Given the description of an element on the screen output the (x, y) to click on. 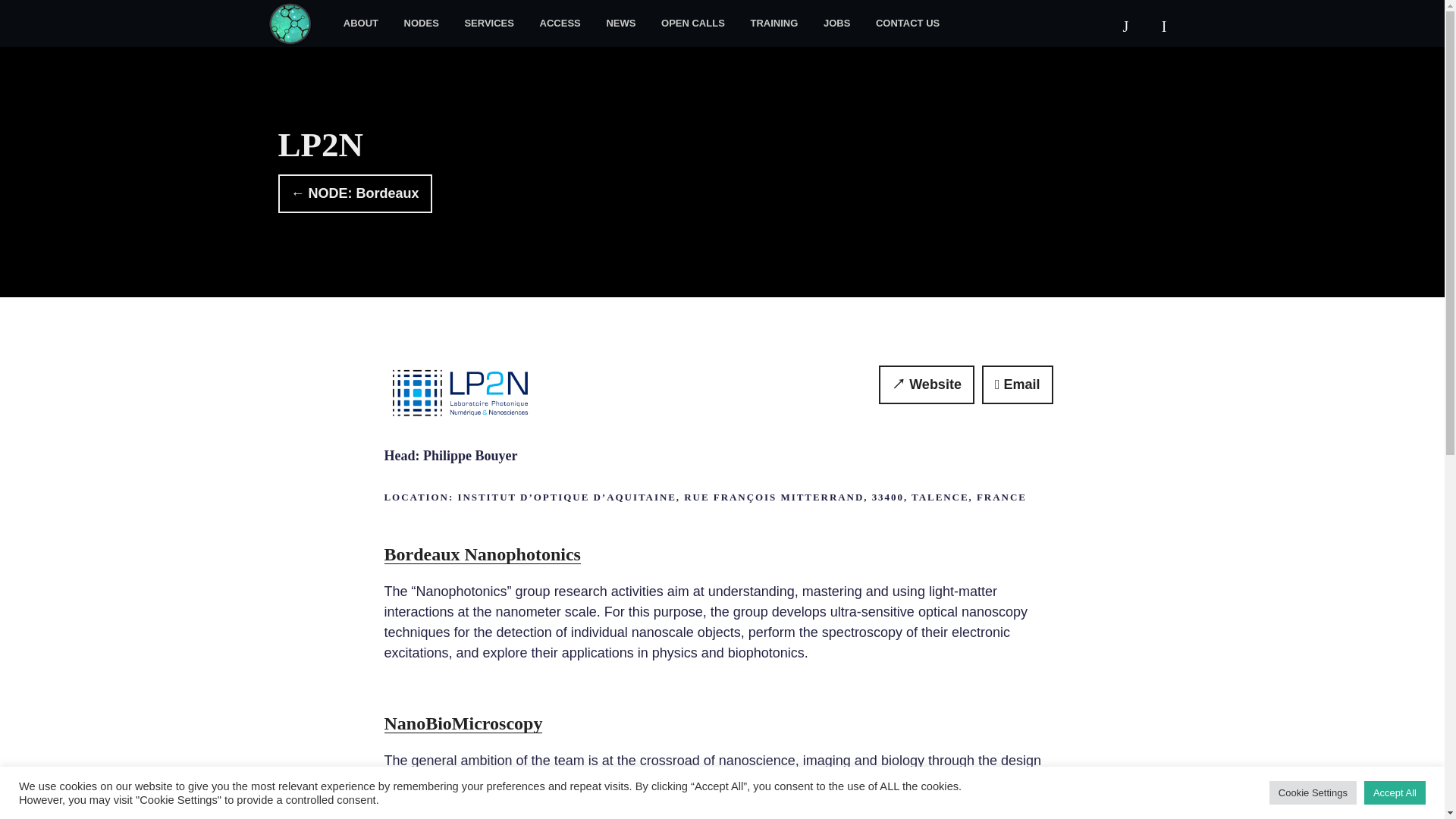
NODES (421, 23)
JOBS (836, 23)
NEWS (620, 23)
NanoBioMicroscopy (462, 723)
OPEN CALLS (692, 23)
TRAINING (773, 23)
Bordeaux Nanophotonics (481, 554)
CONTACT US (907, 23)
ACCESS (560, 23)
. (298, 22)
